Given the description of an element on the screen output the (x, y) to click on. 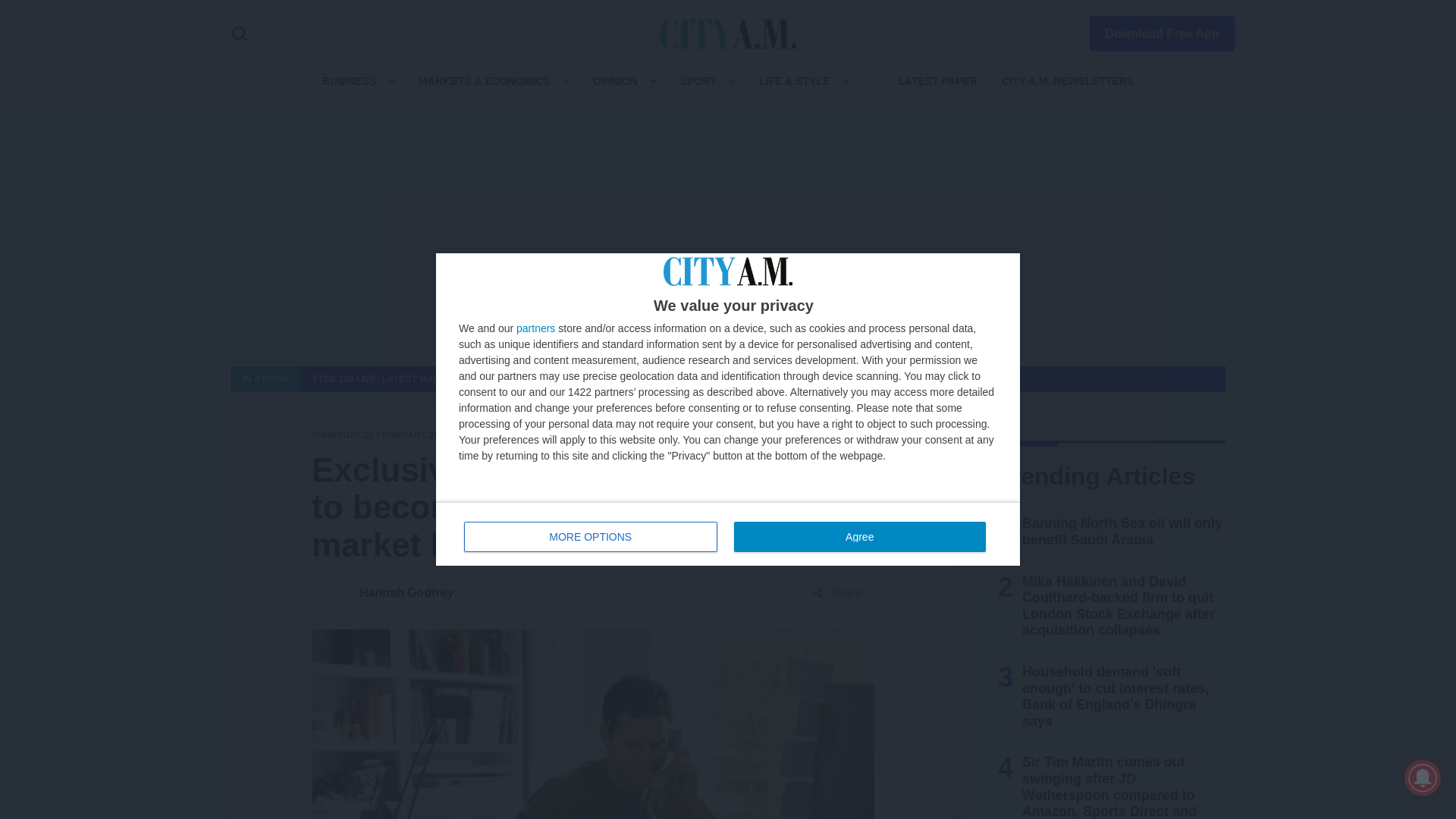
Download Free App (727, 533)
MORE OPTIONS (1152, 30)
Agree (590, 536)
BUSINESS (859, 536)
CityAM (349, 80)
partners (727, 33)
